Given the description of an element on the screen output the (x, y) to click on. 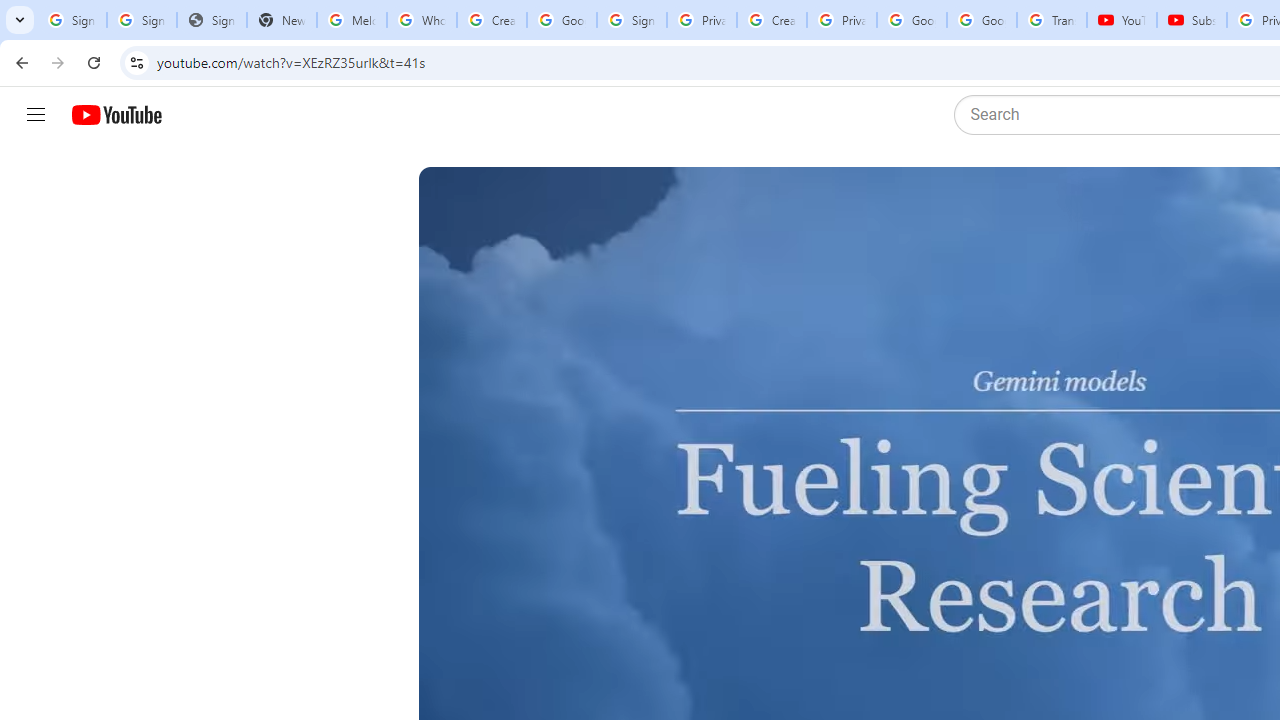
YouTube Home (116, 115)
Guide (35, 115)
Subscriptions - YouTube (1192, 20)
New Tab (282, 20)
Sign in - Google Accounts (141, 20)
Sign In - USA TODAY (211, 20)
